Given the description of an element on the screen output the (x, y) to click on. 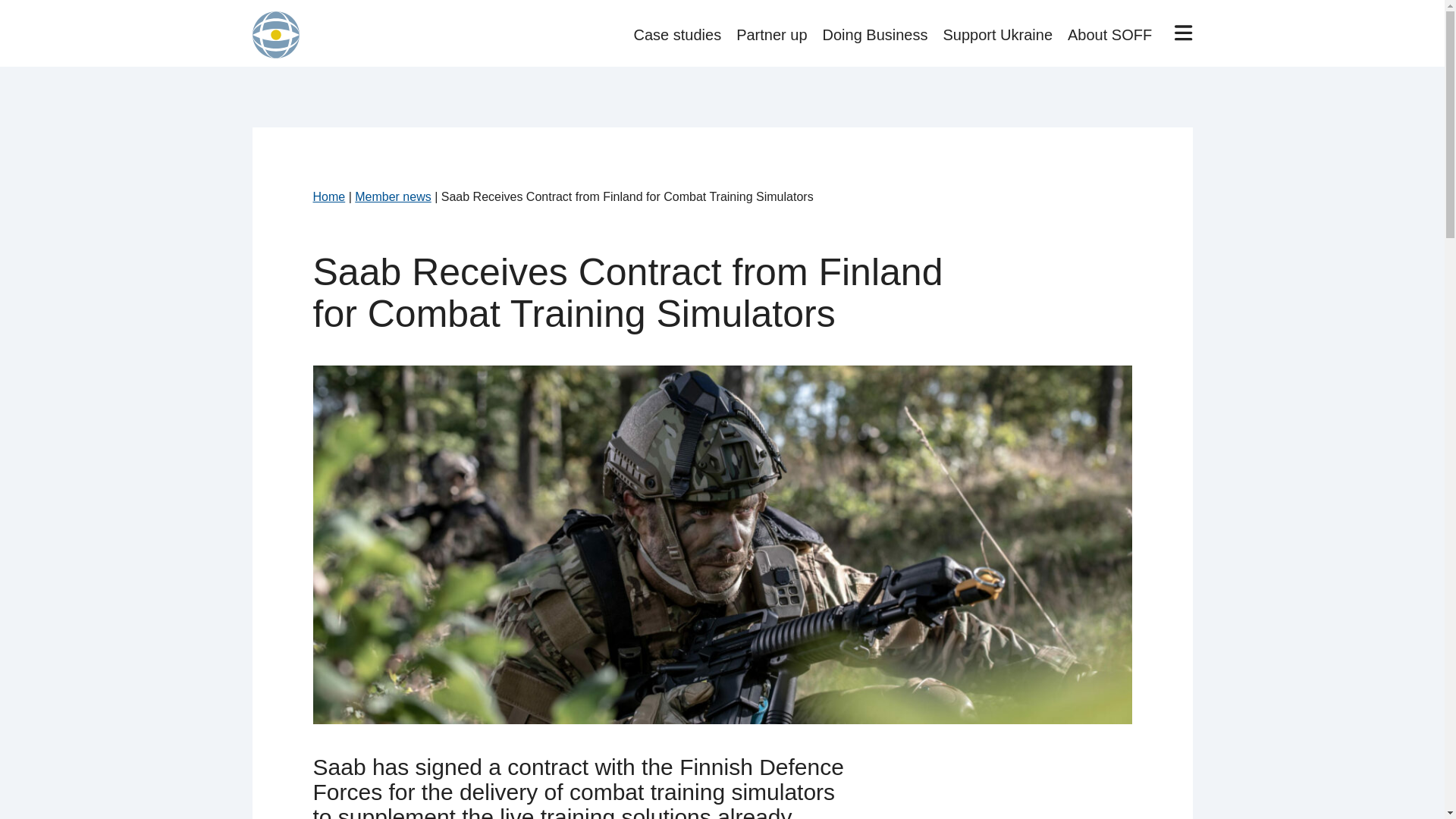
Doing Business (875, 34)
Partner up (771, 34)
Case studies (677, 34)
Support Ukraine (997, 34)
About SOFF (1109, 34)
Member news (392, 196)
Home (329, 196)
